Given the description of an element on the screen output the (x, y) to click on. 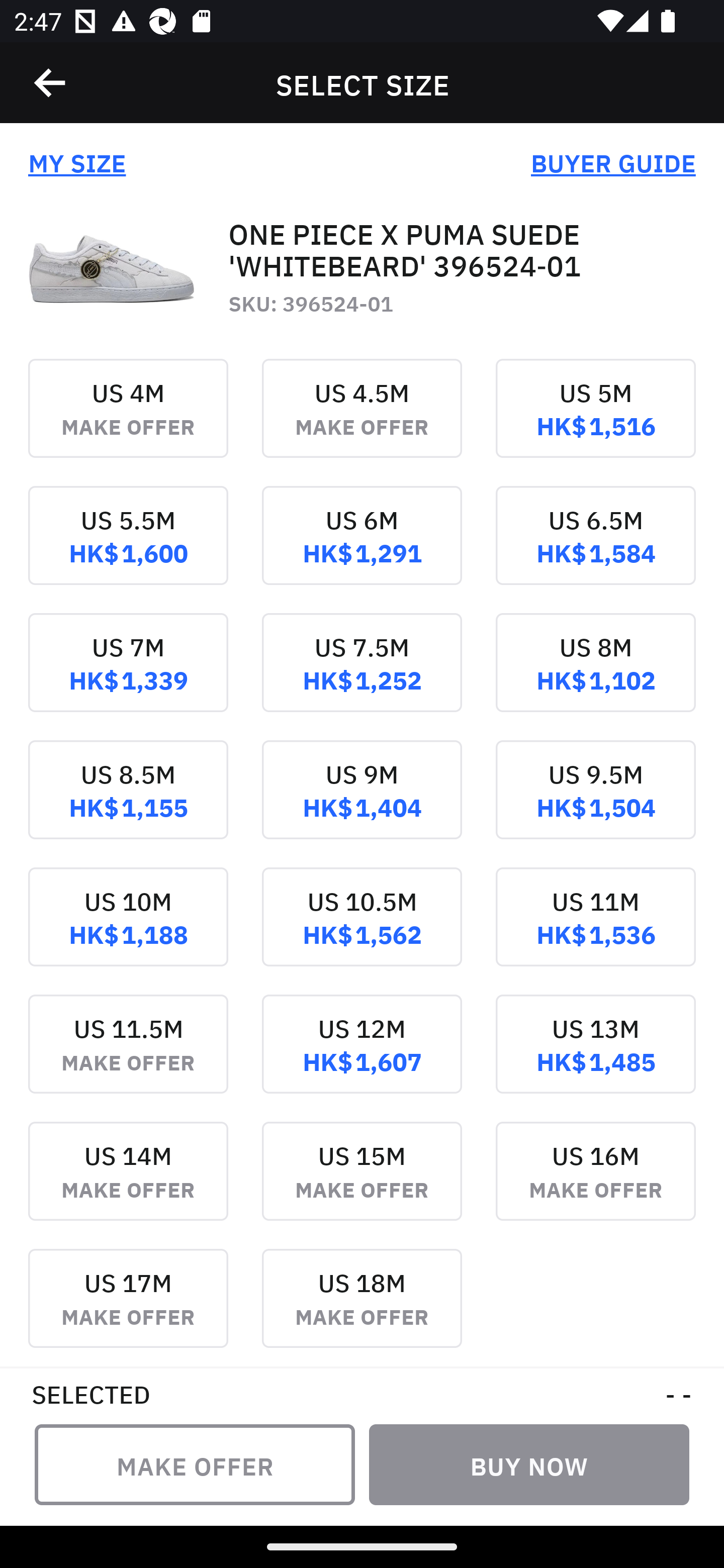
 (50, 83)
US 4M MAKE OFFER (128, 422)
US 4.5M MAKE OFFER (361, 422)
US 5M HK$ 1,516 (595, 422)
US 5.5M HK$ 1,600 (128, 549)
US 6M HK$ 1,291 (361, 549)
US 6.5M HK$ 1,584 (595, 549)
US 7M HK$ 1,339 (128, 676)
US 7.5M HK$ 1,252 (361, 676)
US 8M HK$ 1,102 (595, 676)
US 8.5M HK$ 1,155 (128, 803)
US 9M HK$ 1,404 (361, 803)
US 9.5M HK$ 1,504 (595, 803)
US 10M HK$ 1,188 (128, 930)
US 10.5M HK$ 1,562 (361, 930)
US 11M HK$ 1,536 (595, 930)
US 11.5M MAKE OFFER (128, 1057)
US 12M HK$ 1,607 (361, 1057)
US 13M HK$ 1,485 (595, 1057)
US 14M MAKE OFFER (128, 1184)
US 15M MAKE OFFER (361, 1184)
US 16M MAKE OFFER (595, 1184)
US 17M MAKE OFFER (128, 1306)
US 18M MAKE OFFER (361, 1306)
MAKE OFFER (194, 1464)
BUY NOW (529, 1464)
